Given the description of an element on the screen output the (x, y) to click on. 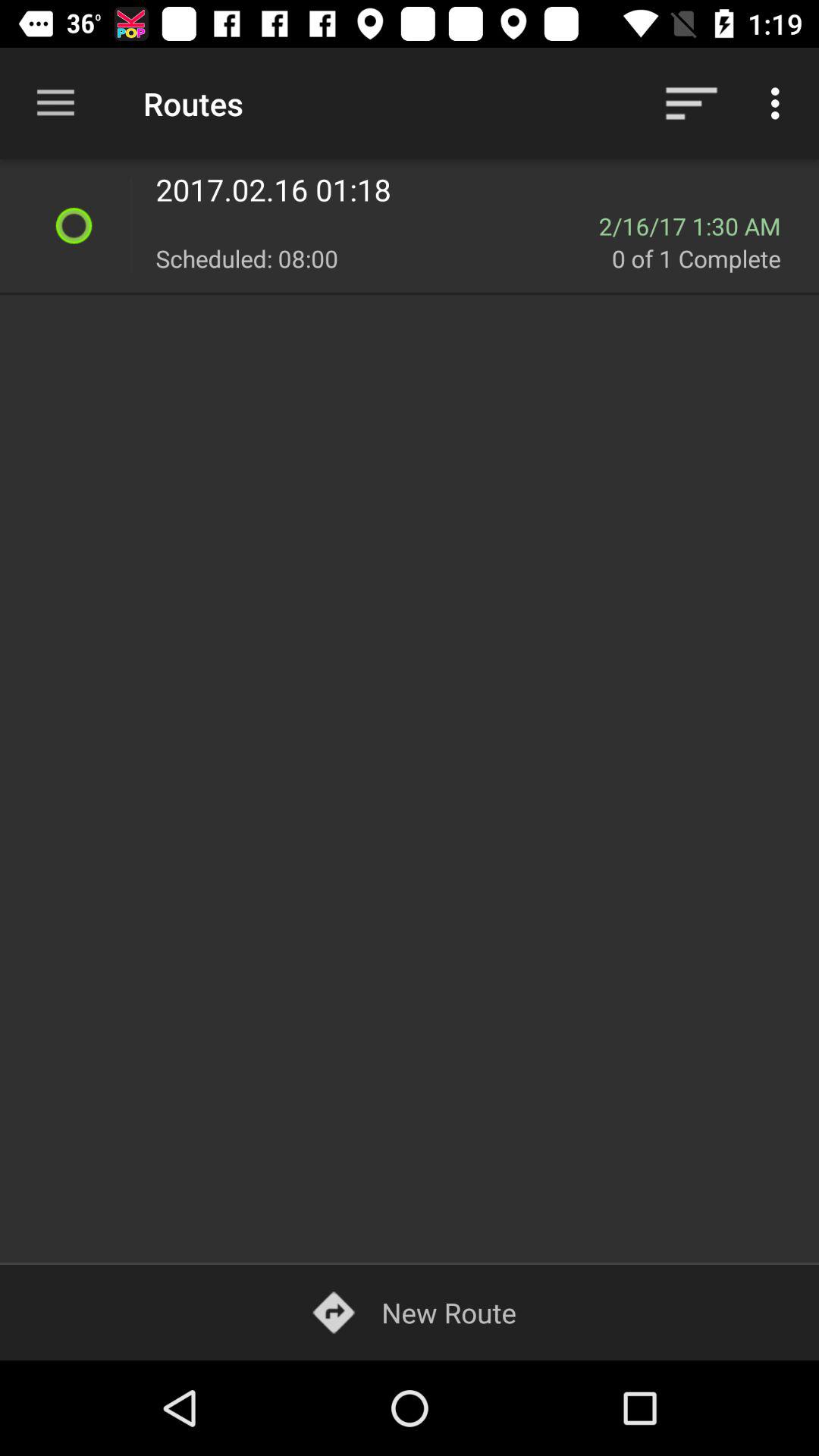
choose icon to the left of 2 16 17 item (376, 225)
